Given the description of an element on the screen output the (x, y) to click on. 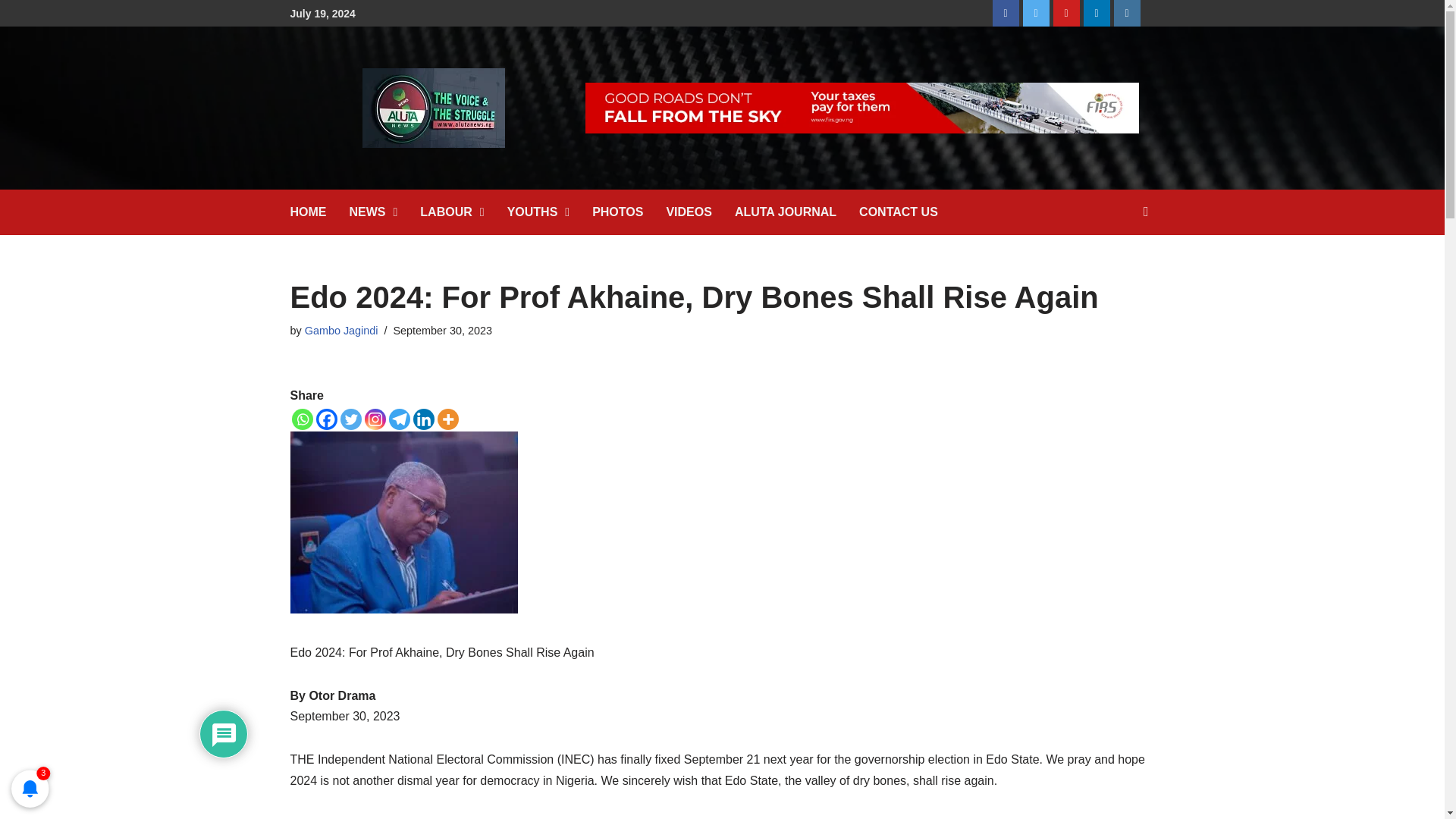
PHOTOS (628, 211)
More (447, 418)
VIDEOS (699, 211)
Posts by Gambo Jagindi (341, 330)
twitter (1036, 13)
ALUTA JOURNAL (797, 211)
linkedin (1096, 13)
youtube (1066, 13)
facebook (1005, 13)
Telegram (398, 418)
Whatsapp (302, 418)
Twitter (350, 418)
Linkedin (422, 418)
instagram (1126, 13)
NEWS (384, 211)
